Given the description of an element on the screen output the (x, y) to click on. 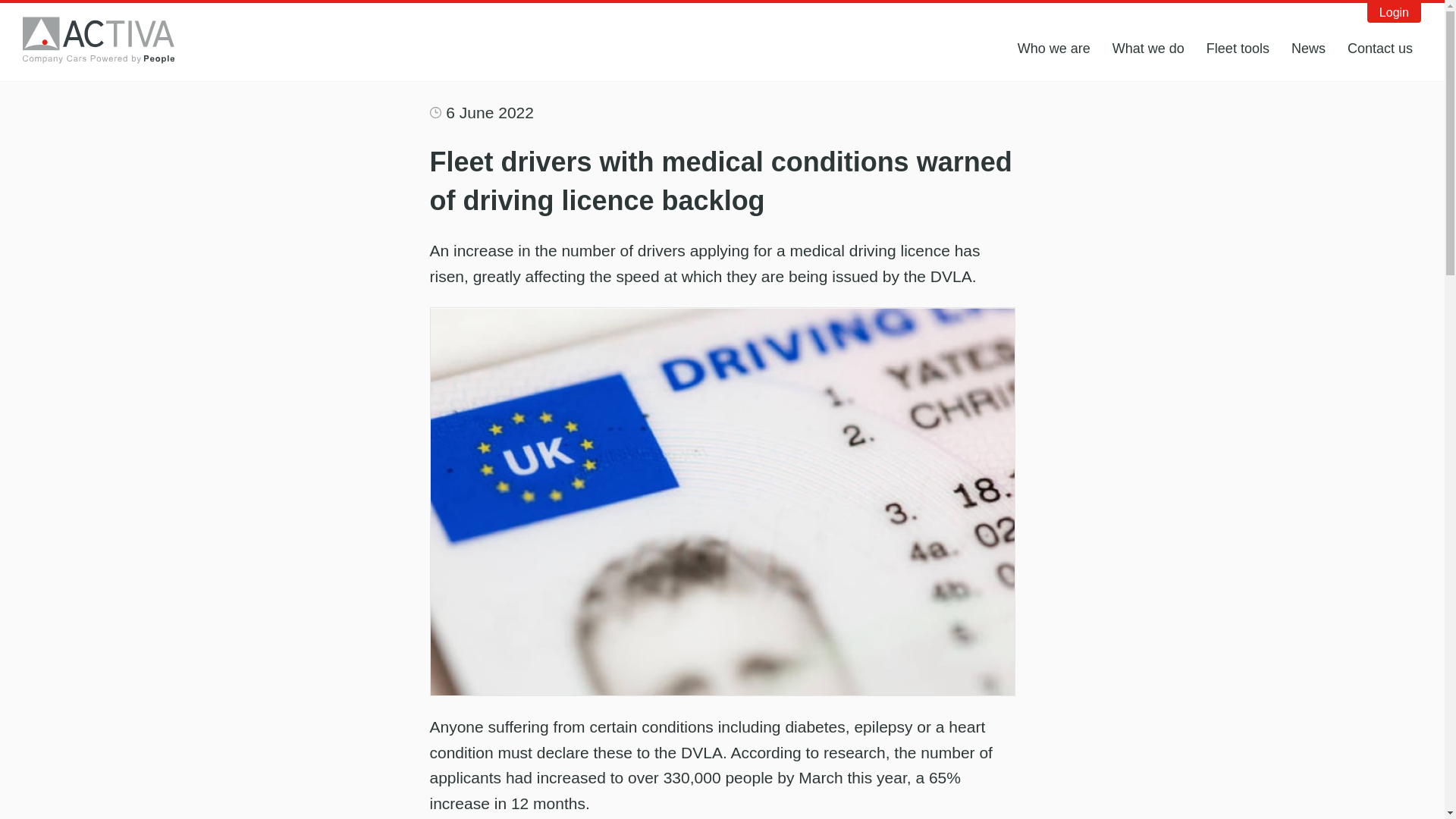
Login (1394, 12)
Contact us (1380, 48)
Activa Contracts (109, 39)
News (1308, 48)
